Given the description of an element on the screen output the (x, y) to click on. 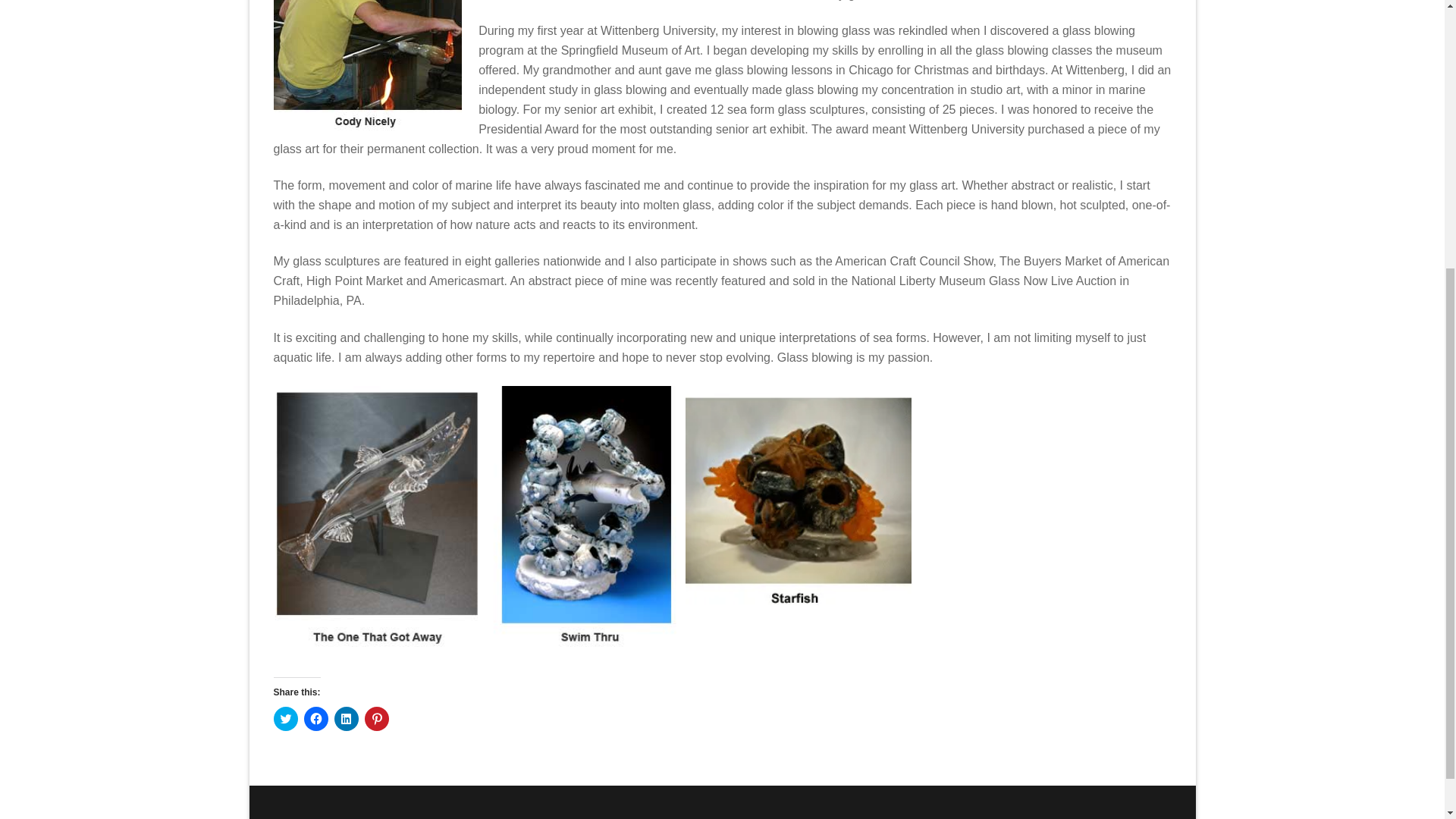
Click to share on Twitter (285, 718)
Click to share on Pinterest (376, 718)
Click to share on LinkedIn (345, 718)
Click to share on Facebook (314, 718)
